Given the description of an element on the screen output the (x, y) to click on. 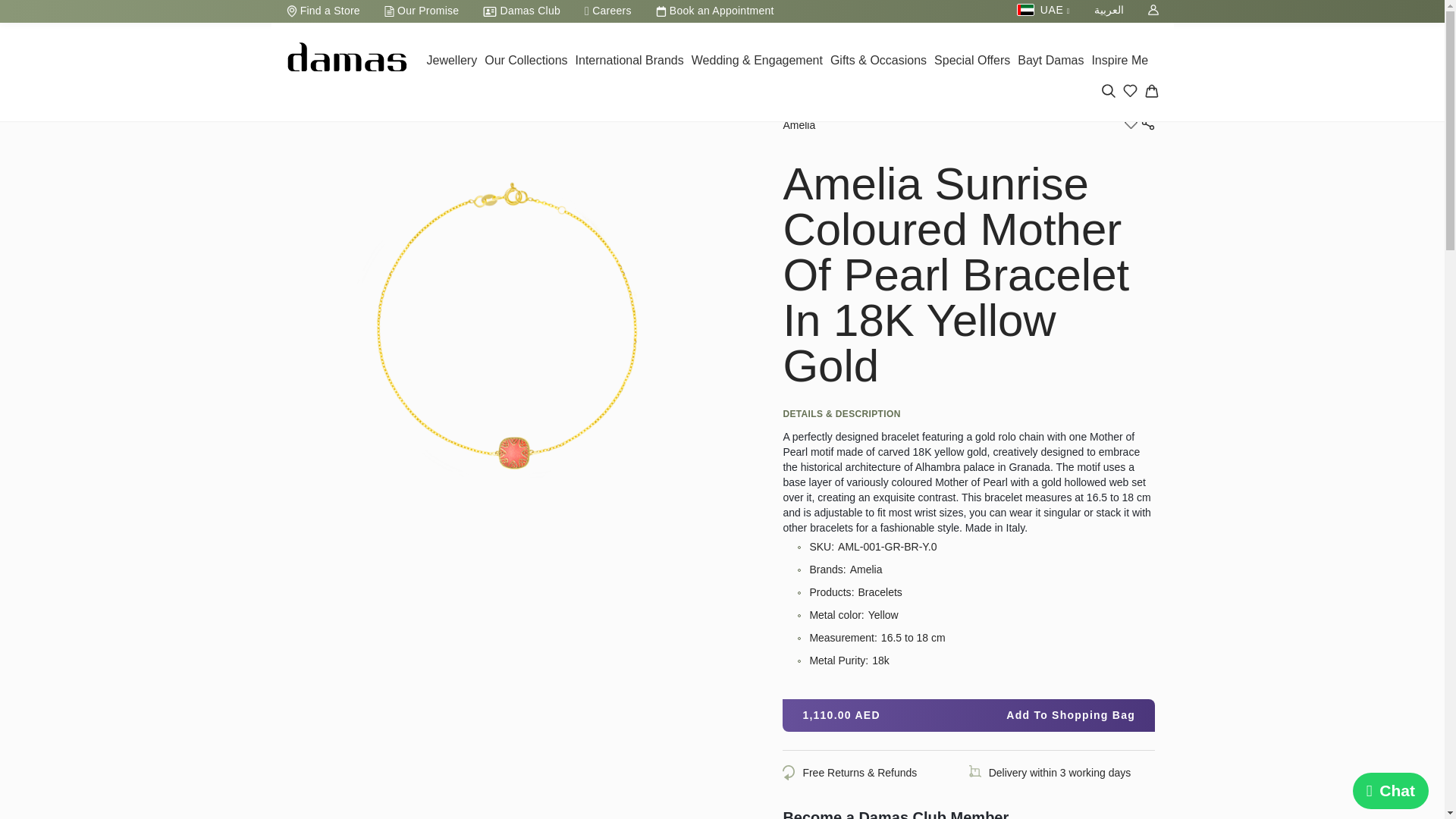
Add to shopping bag (968, 715)
Amelia (799, 124)
Our Promise (421, 11)
Find a Store (323, 11)
Book an Appointment (714, 11)
Careers (607, 11)
Jewellery (451, 62)
Damas Club (521, 11)
